Given the description of an element on the screen output the (x, y) to click on. 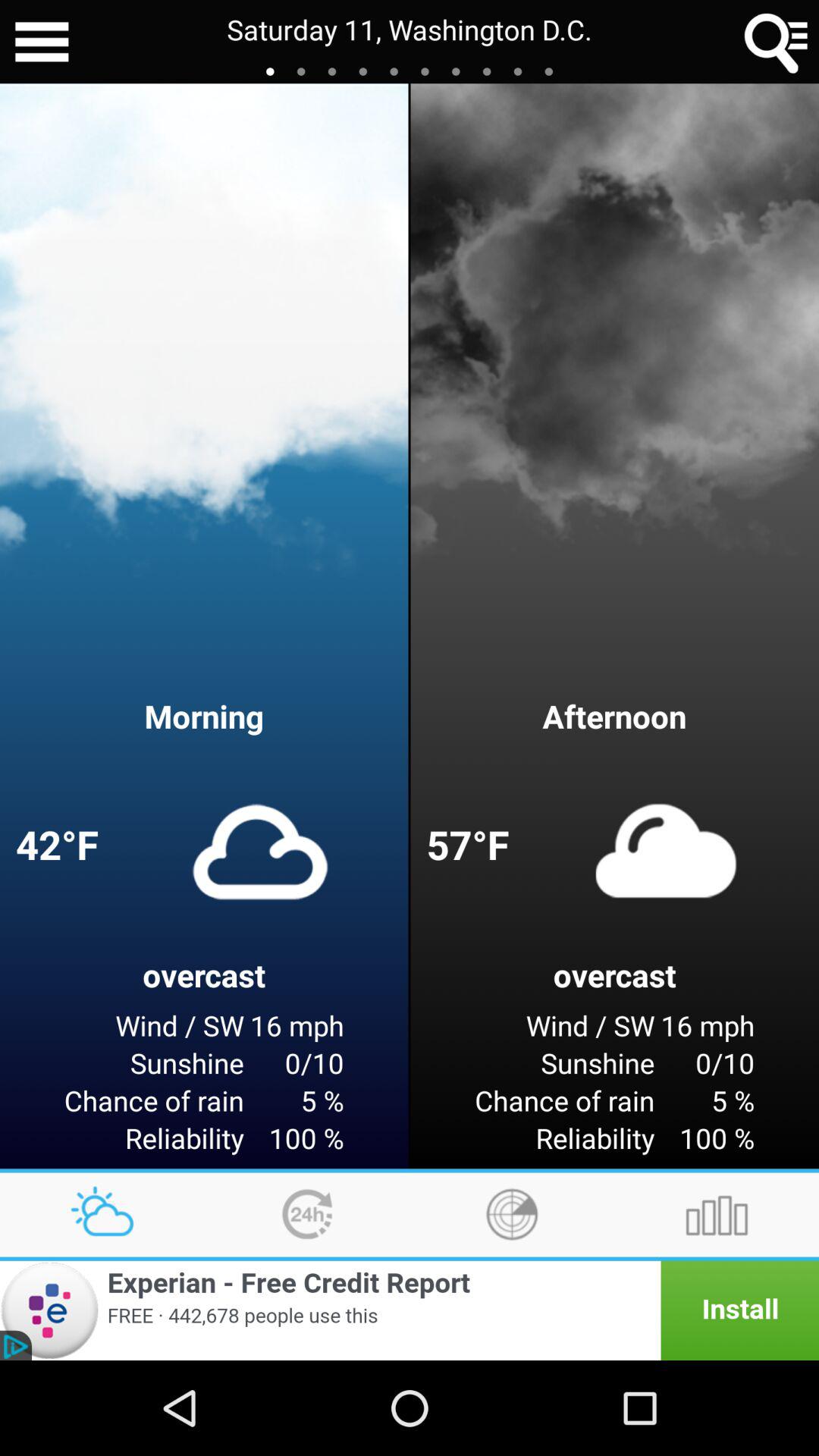
tap the item to the left of saturday 11 washington app (41, 41)
